Given the description of an element on the screen output the (x, y) to click on. 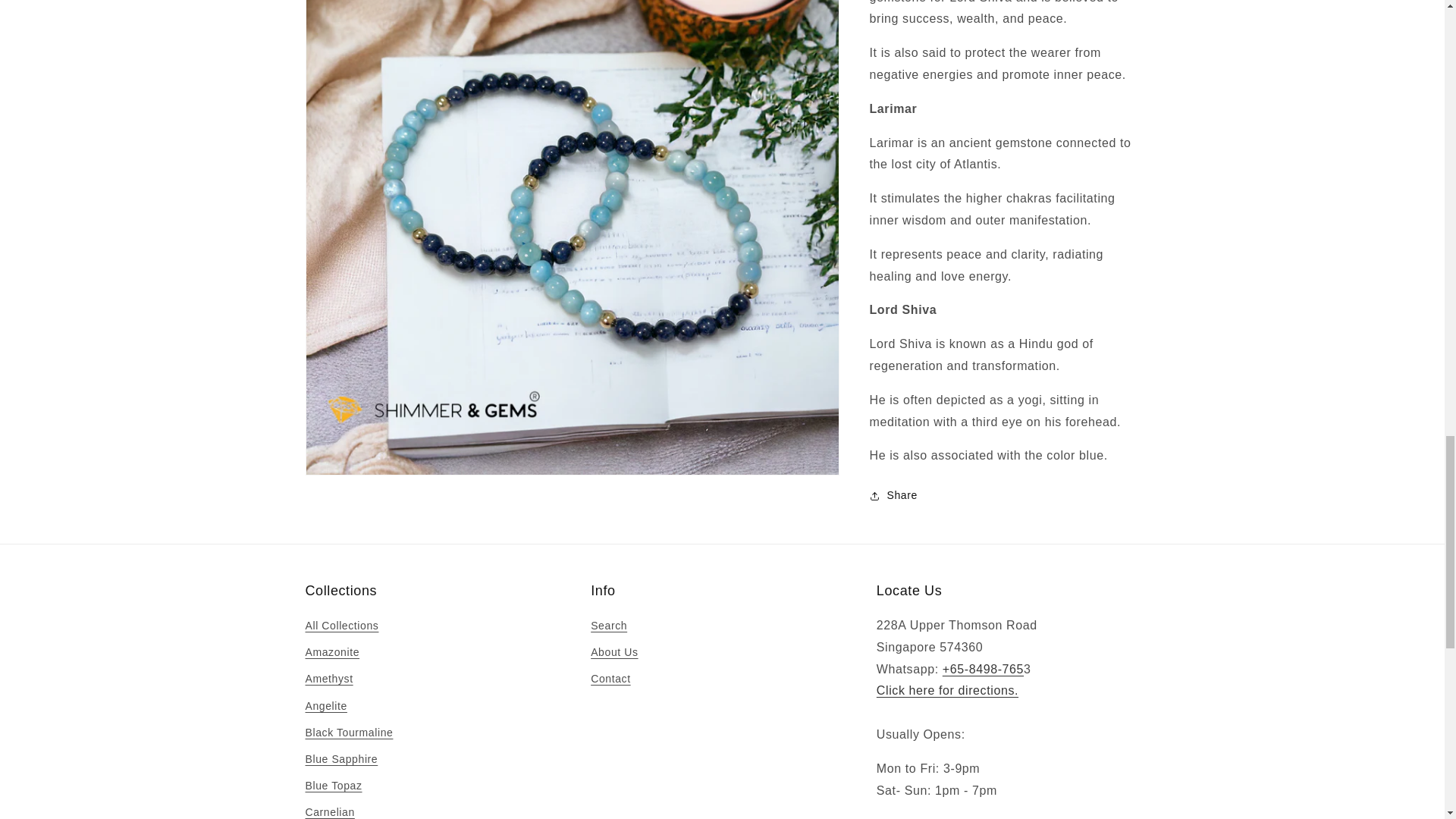
Contact (946, 689)
